Given the description of an element on the screen output the (x, y) to click on. 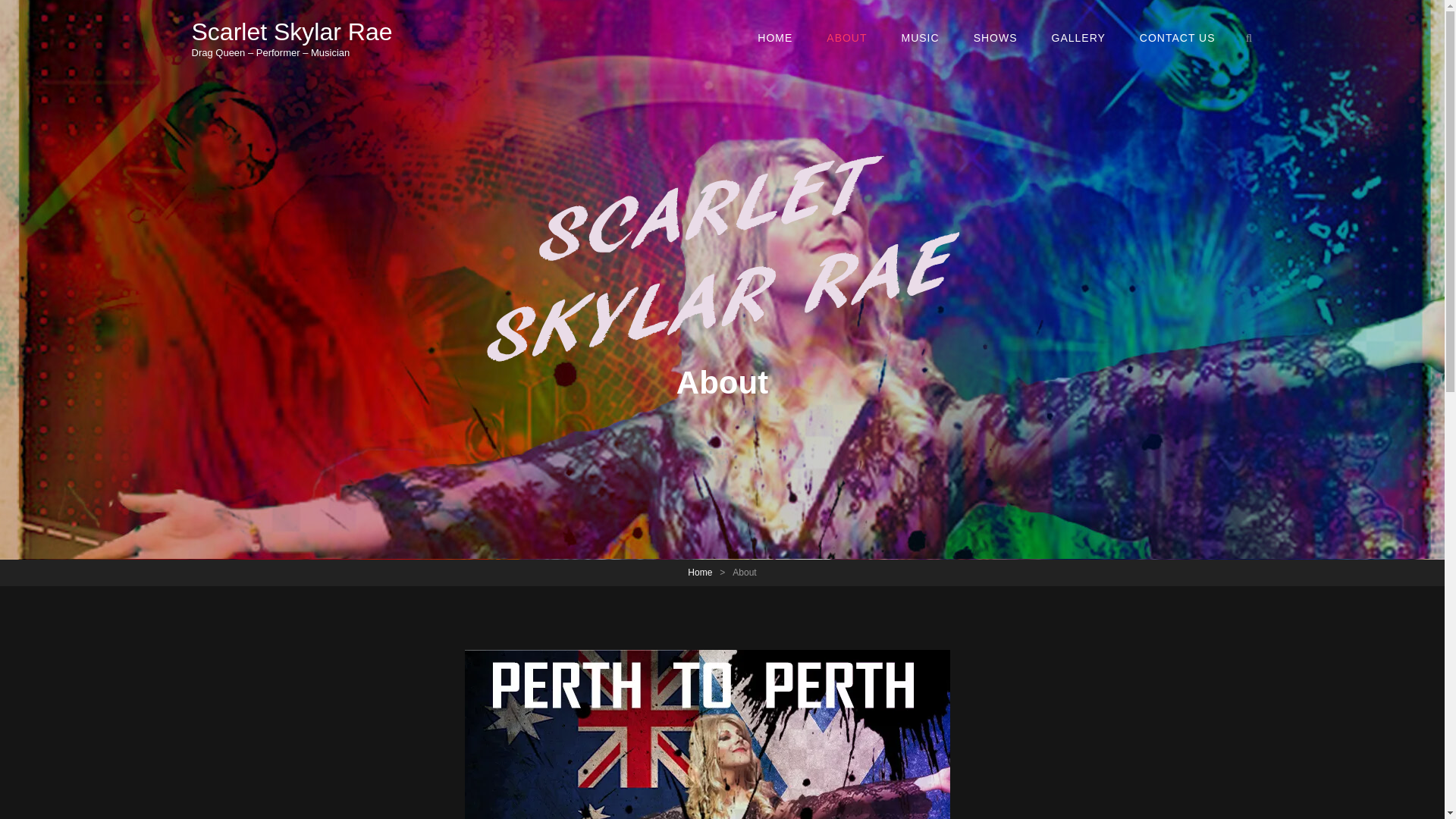
scarlet scbp (706, 734)
MUSIC (920, 37)
CONTACT US (1177, 37)
GALLERY (1078, 37)
Scarlet Skylar Rae (290, 31)
Home (699, 572)
SHOWS (995, 37)
HOME (775, 37)
ABOUT (846, 37)
SEARCH (1249, 37)
